Given the description of an element on the screen output the (x, y) to click on. 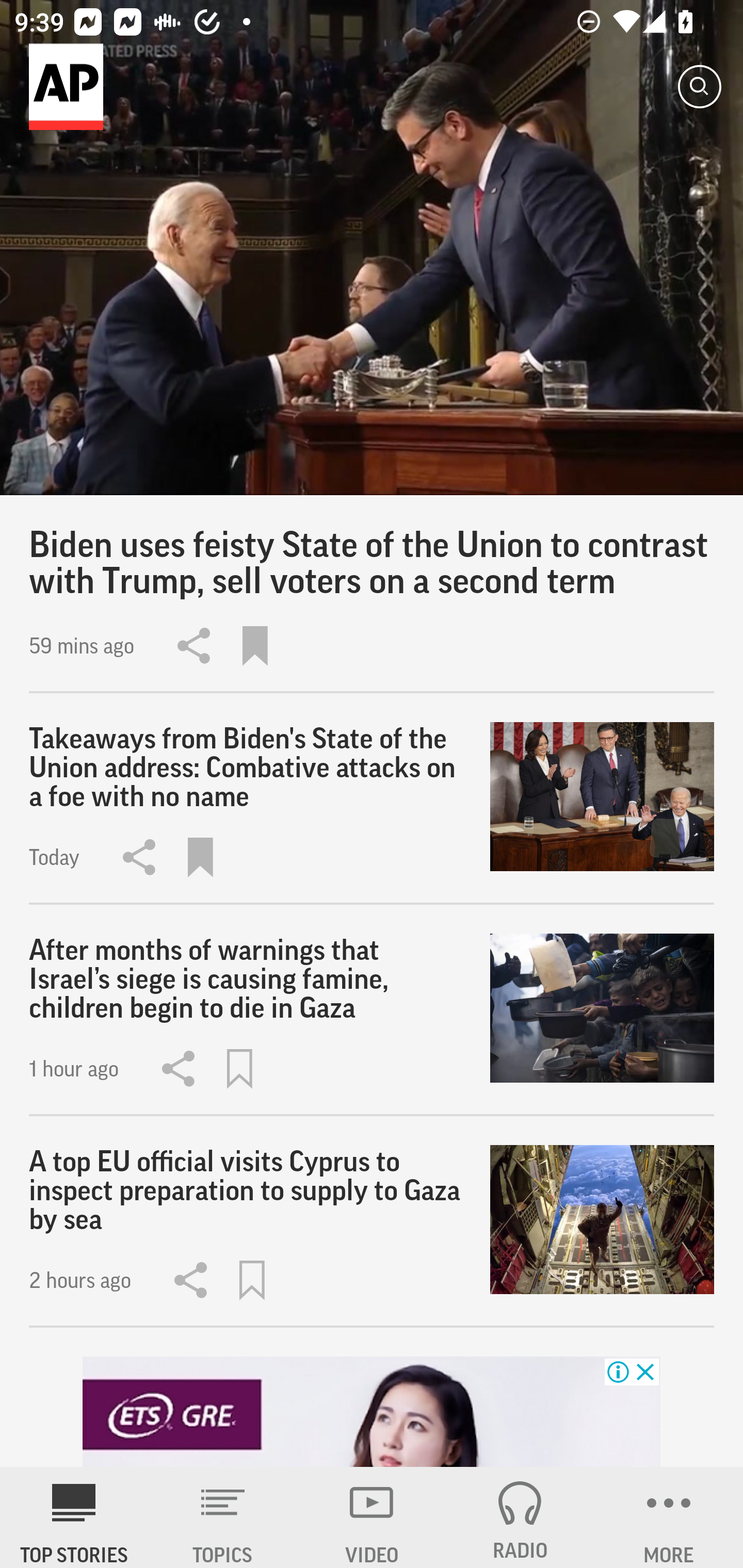
AP News TOP STORIES (74, 1517)
TOPICS (222, 1517)
VIDEO (371, 1517)
RADIO (519, 1517)
MORE (668, 1517)
